Given the description of an element on the screen output the (x, y) to click on. 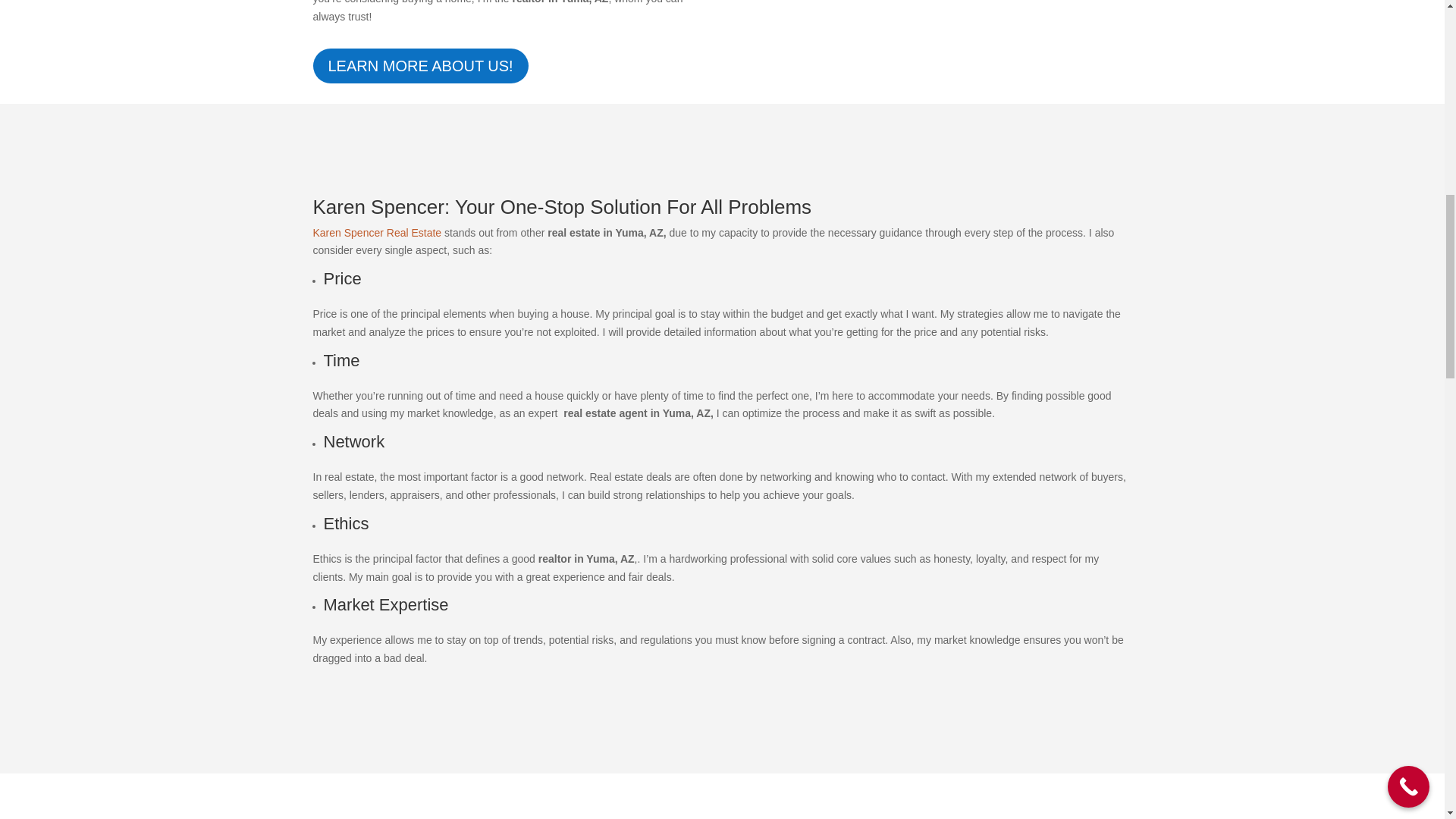
LEARN MORE ABOUT US! (420, 65)
Karen Spencer Real Estate (377, 232)
